Given the description of an element on the screen output the (x, y) to click on. 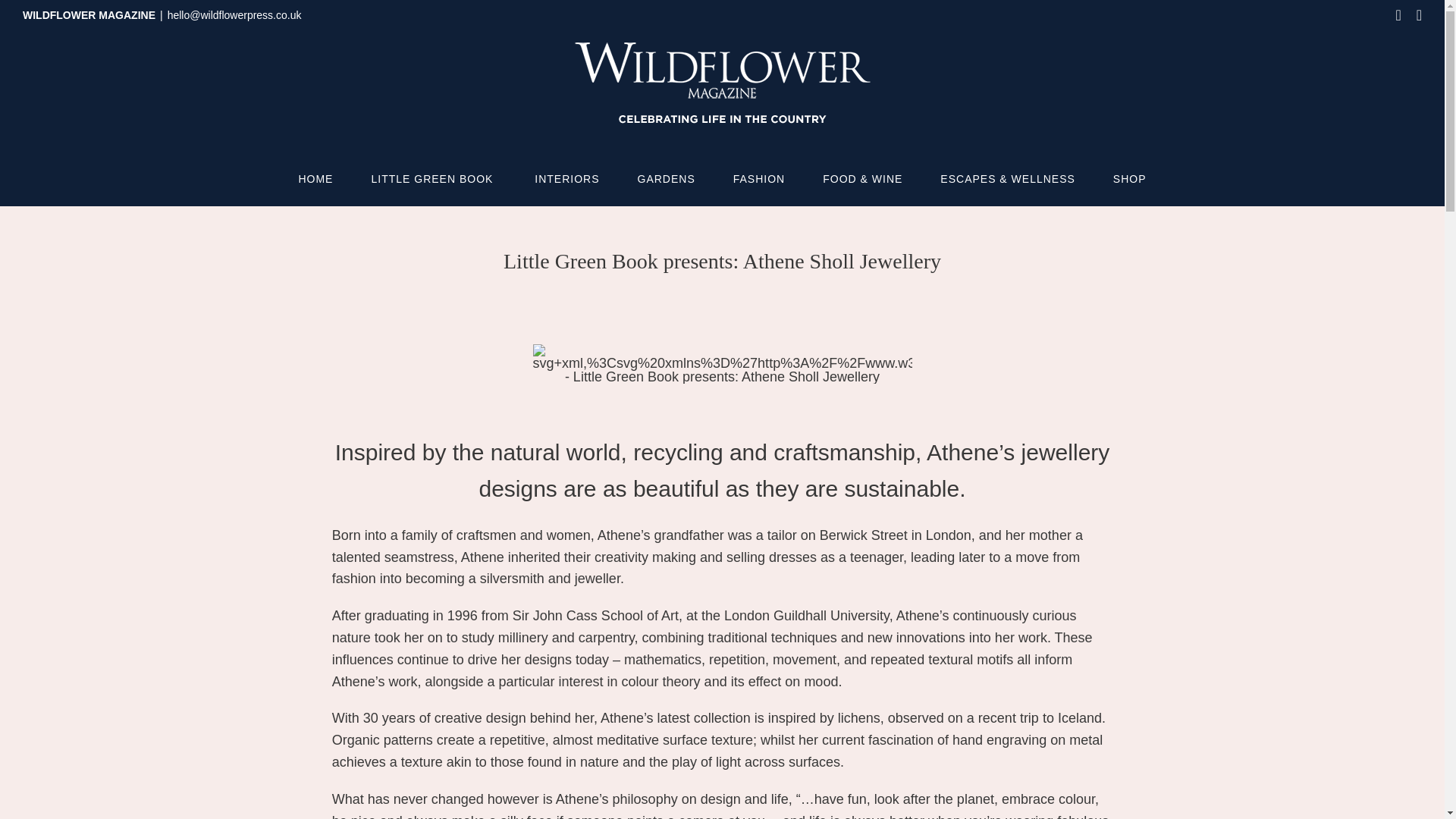
GARDENS (666, 178)
FASHION (758, 178)
INTERIORS (566, 178)
Little Green Book presents:  Athene Sholl Jewellery (721, 363)
LITTLE GREEN BOOK (433, 178)
